Given the description of an element on the screen output the (x, y) to click on. 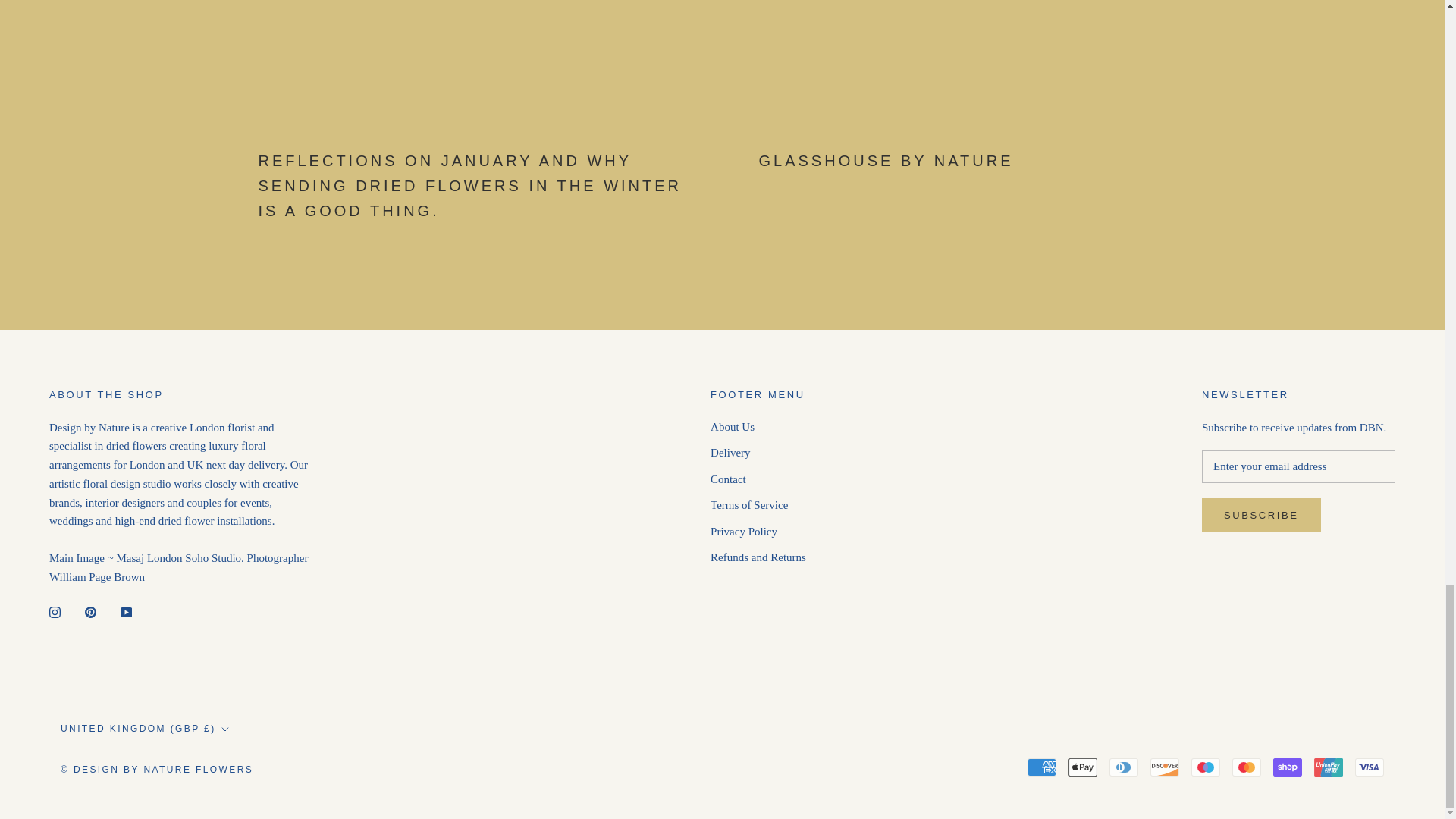
Mastercard (1245, 767)
GLASSHOUSE BY NATURE (885, 160)
Visa (1369, 767)
About Us (758, 426)
American Express (1042, 767)
Maestro (1205, 767)
Apple Pay (1082, 767)
Discover (1164, 767)
Diners Club (1123, 767)
